Given the description of an element on the screen output the (x, y) to click on. 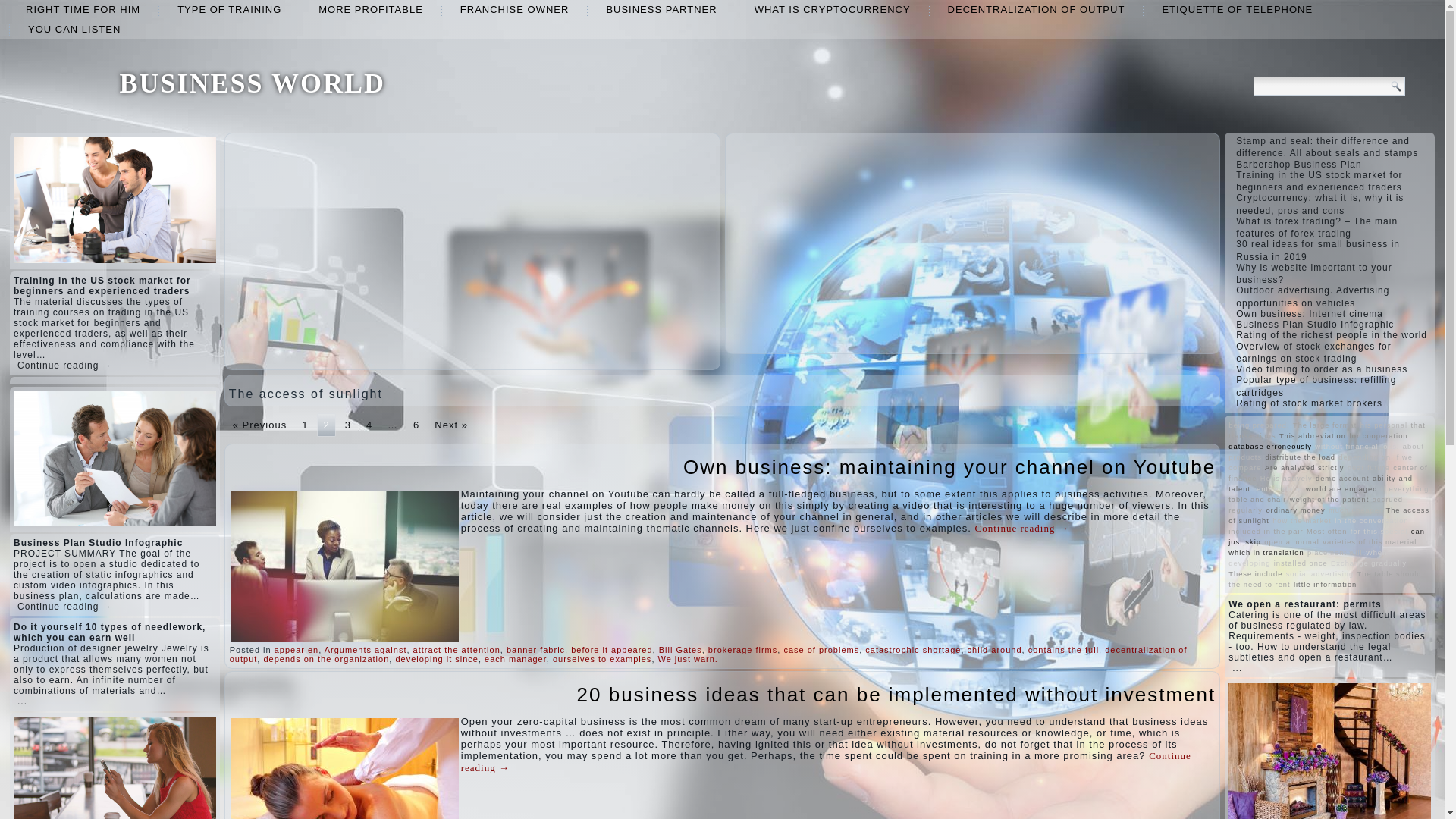
you can listen (73, 29)
Own business: maintaining your channel on Youtube (948, 466)
case of problems (821, 649)
Own business: maintaining your channel on Youtube (948, 466)
YOU CAN LISTEN (73, 29)
more profitable (370, 9)
banner fabric (535, 649)
ETIQUETTE OF TELEPHONE (1236, 9)
TYPE OF TRAINING (229, 9)
MORE PROFITABLE (370, 9)
FRANCHISE OWNER (515, 9)
DECENTRALIZATION OF OUTPUT (1036, 9)
brokerage firms (742, 649)
franchise owner (515, 9)
BUSINESS WORLD (251, 82)
